Given the description of an element on the screen output the (x, y) to click on. 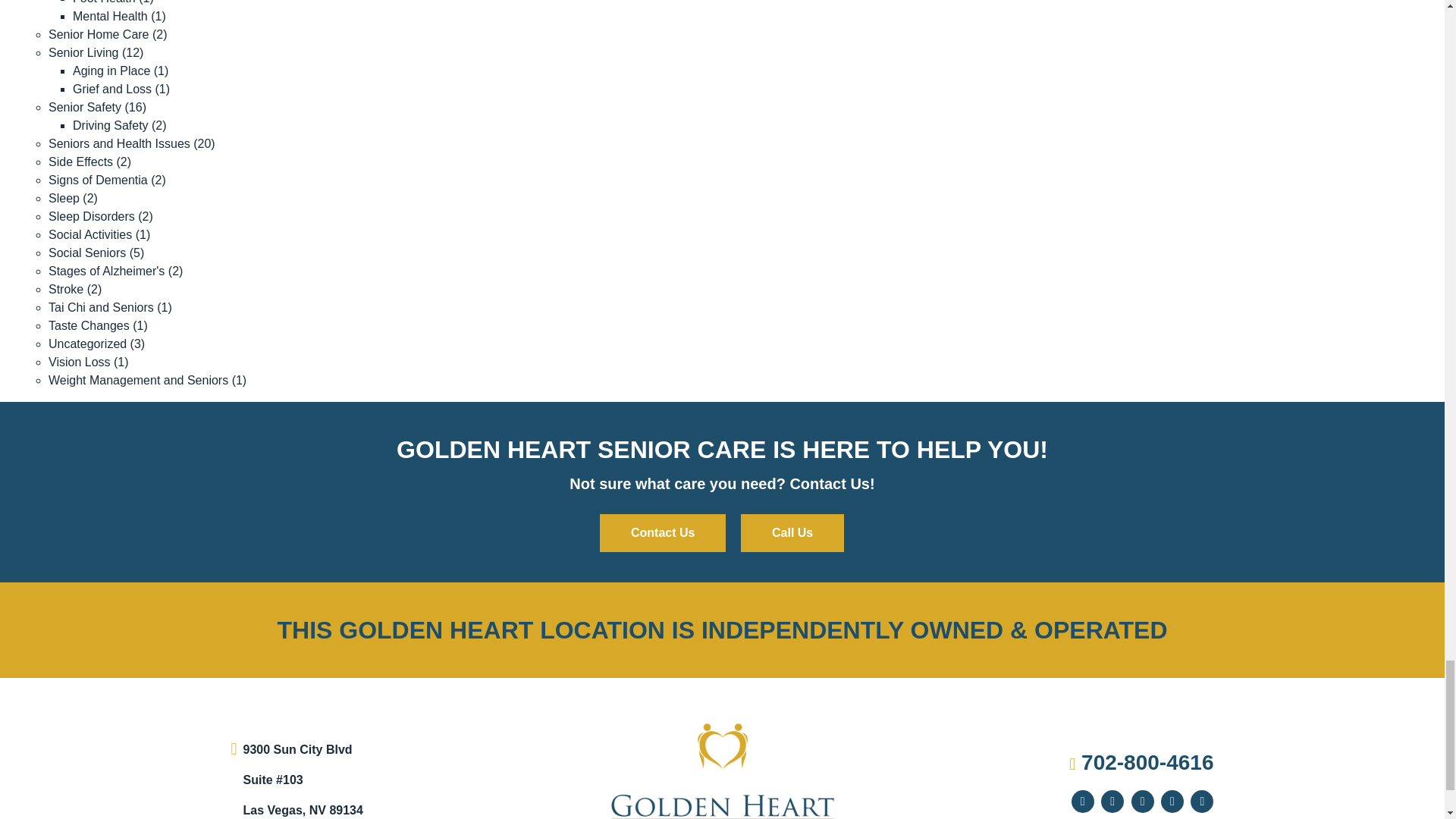
Contact Golden Heart Senior Care (662, 533)
Golden Heart Senior Care (721, 779)
